Given the description of an element on the screen output the (x, y) to click on. 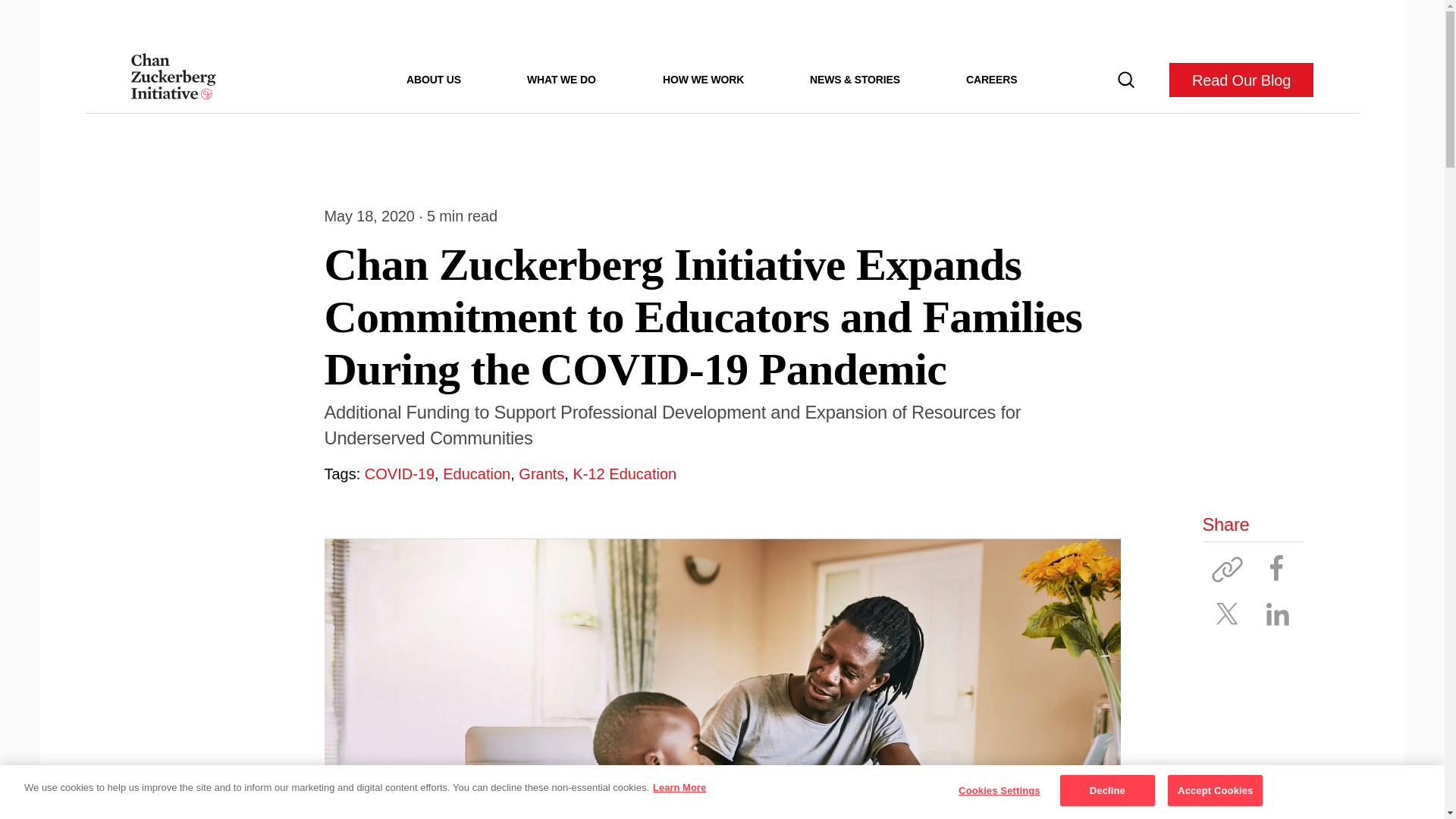
ABOUT US (433, 78)
New Homepage (173, 79)
HOW WE WORK (703, 78)
WHAT WE DO (561, 78)
